Given the description of an element on the screen output the (x, y) to click on. 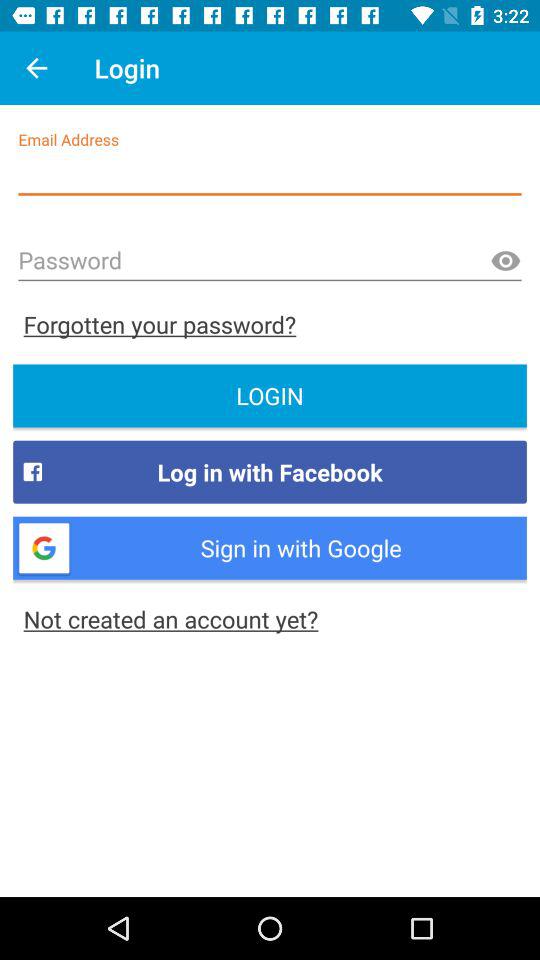
email column (269, 174)
